Given the description of an element on the screen output the (x, y) to click on. 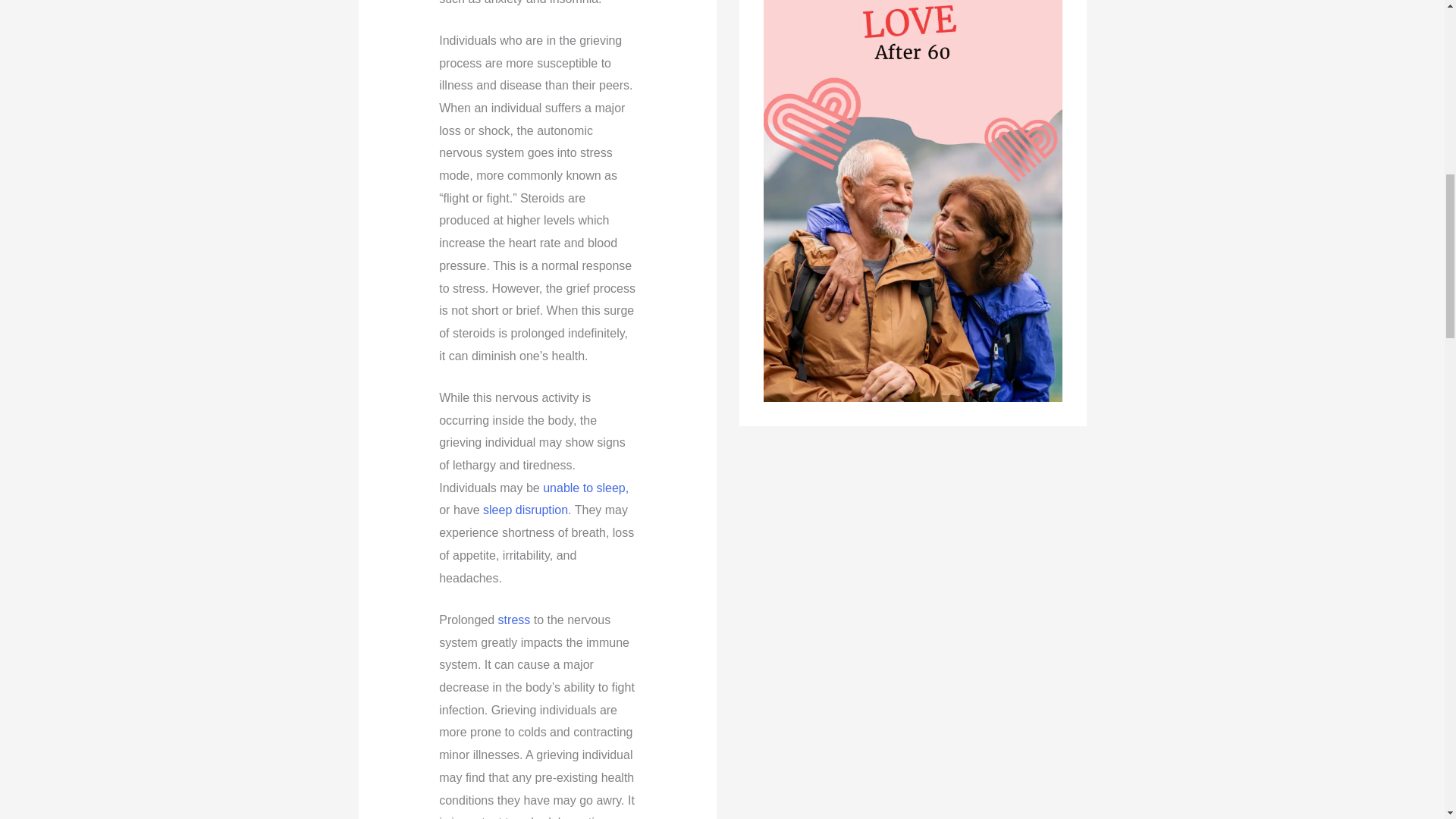
stress (514, 619)
sleep disruption (525, 509)
unable to sleep, (585, 487)
